Given the description of an element on the screen output the (x, y) to click on. 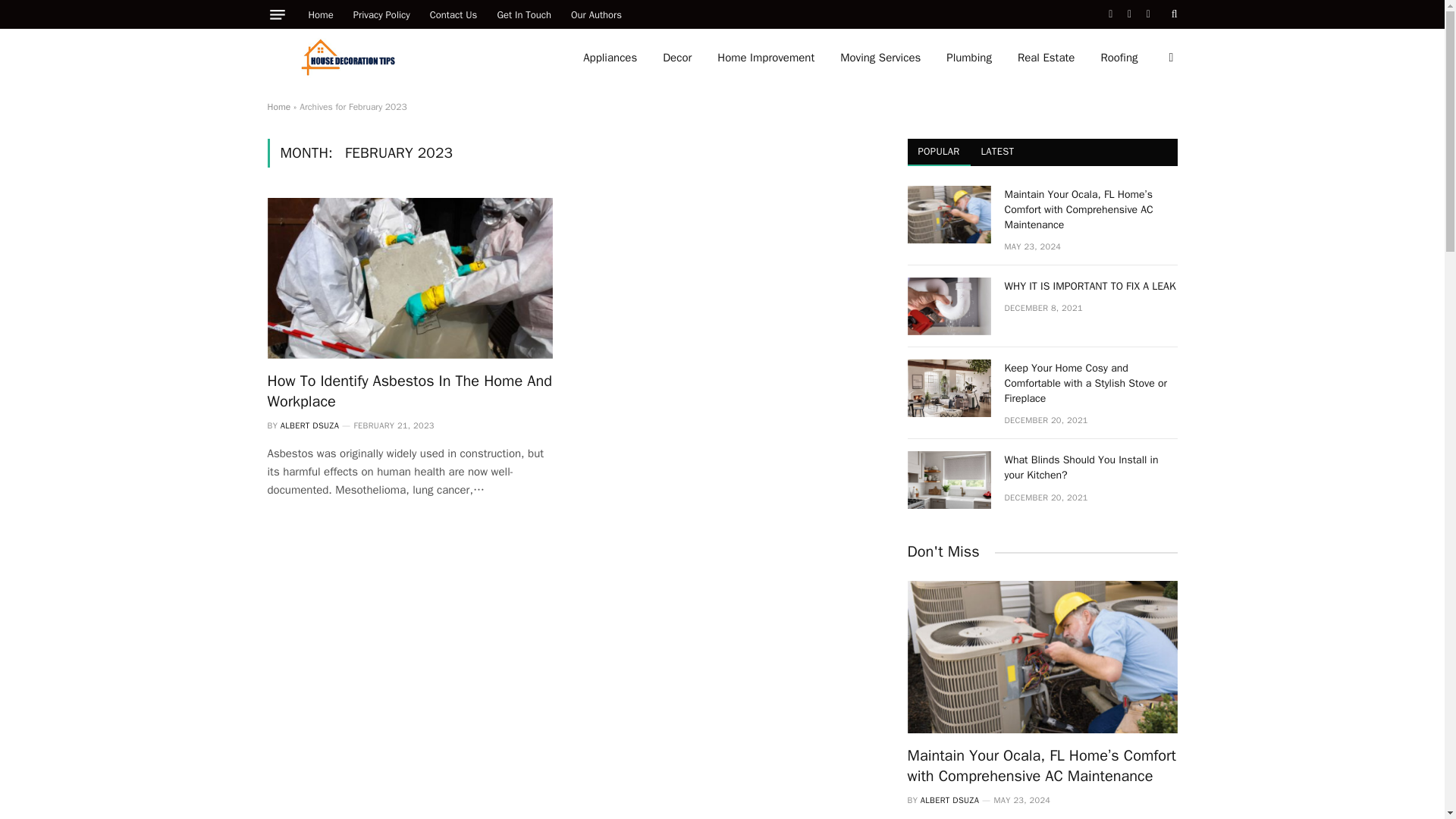
WHY IT IS IMPORTANT TO FIX A LEAK (948, 305)
Plumbing (968, 57)
Home (320, 14)
Switch to Dark Design - easier on eyes. (1169, 57)
What Blinds Should You Install in your Kitchen? (948, 479)
ALBERT DSUZA (310, 425)
Home (277, 106)
House Decoration Tips (347, 57)
How To Identify Asbestos In The Home And Workplace (408, 278)
Posts by Albert Dsuza (310, 425)
POPULAR (938, 152)
Privacy Policy (381, 14)
Appliances (609, 57)
Our Authors (595, 14)
